Given the description of an element on the screen output the (x, y) to click on. 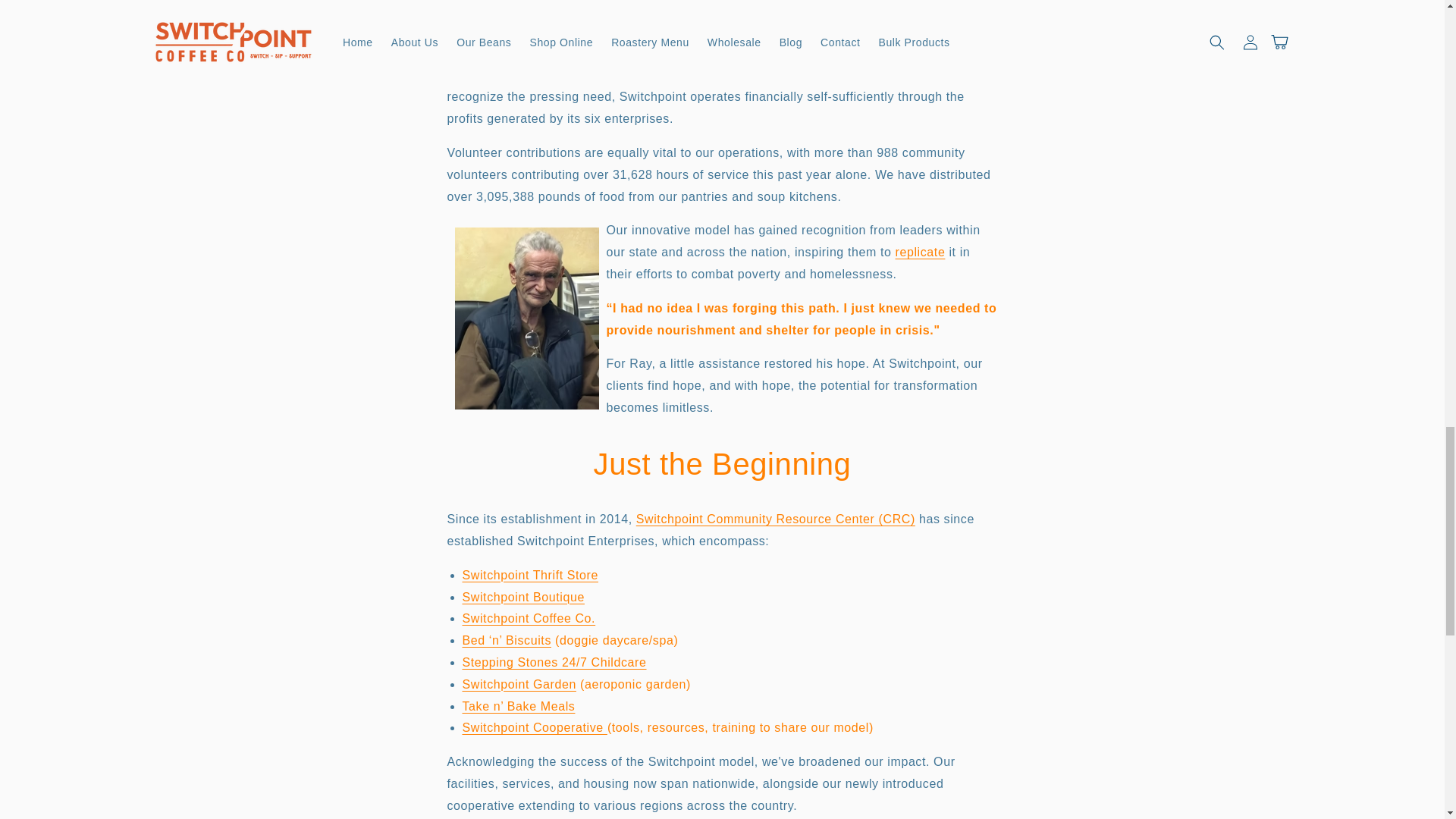
Switchpoint Coffee Co. (529, 617)
Switchpoint Thrift Store (530, 574)
Switchpoint Boutique (524, 596)
replicate (919, 251)
